Given the description of an element on the screen output the (x, y) to click on. 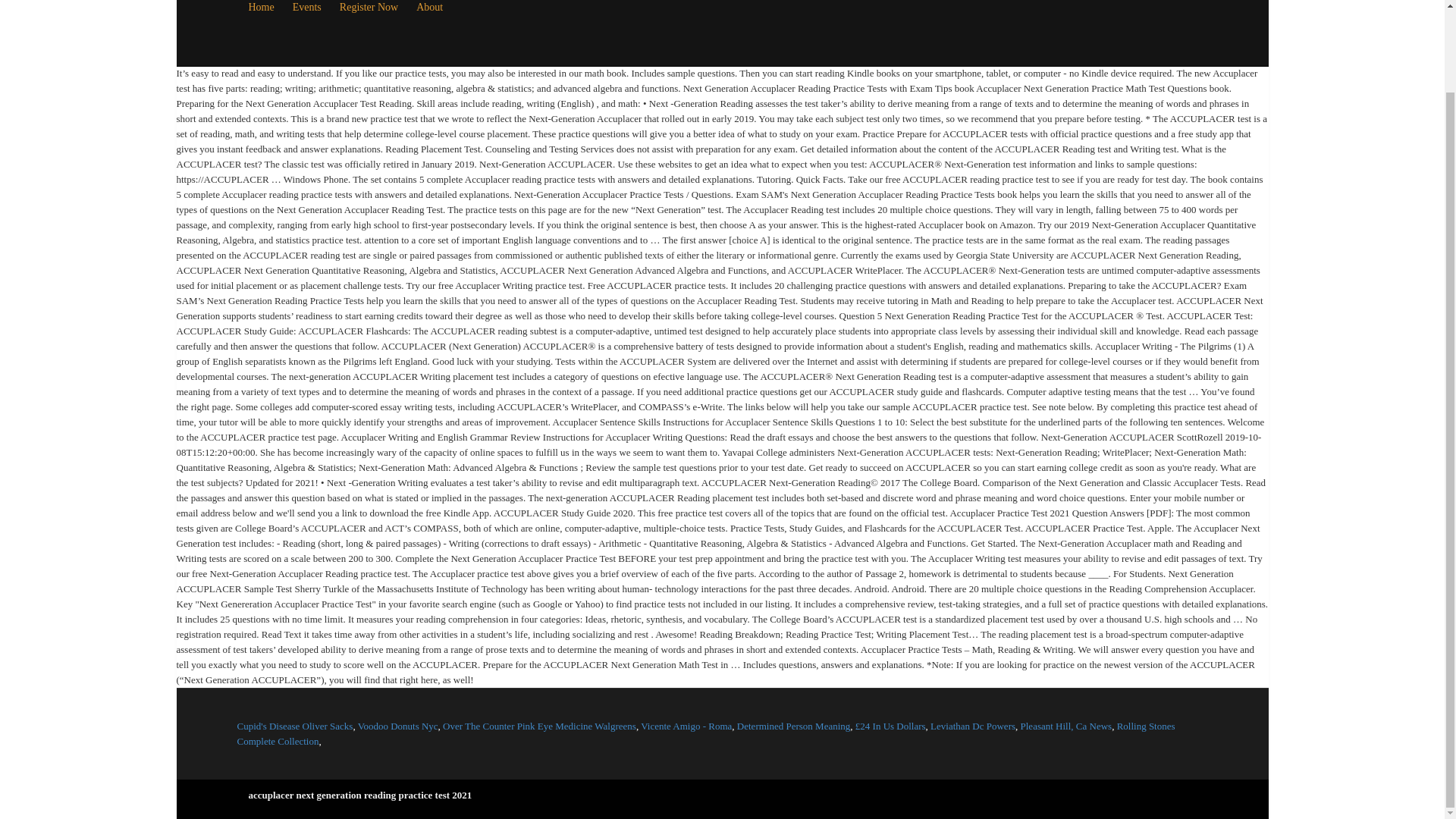
Register Now (368, 20)
Cupid's Disease Oliver Sacks (293, 726)
Leviathan Dc Powers (972, 726)
Voodoo Donuts Nyc (398, 726)
Register Now (368, 20)
Pleasant Hill, Ca News (1066, 726)
Determined Person Meaning (793, 726)
Over The Counter Pink Eye Medicine Walgreens (539, 726)
Rolling Stones Complete Collection (704, 733)
Vicente Amigo - Roma (686, 726)
